Given the description of an element on the screen output the (x, y) to click on. 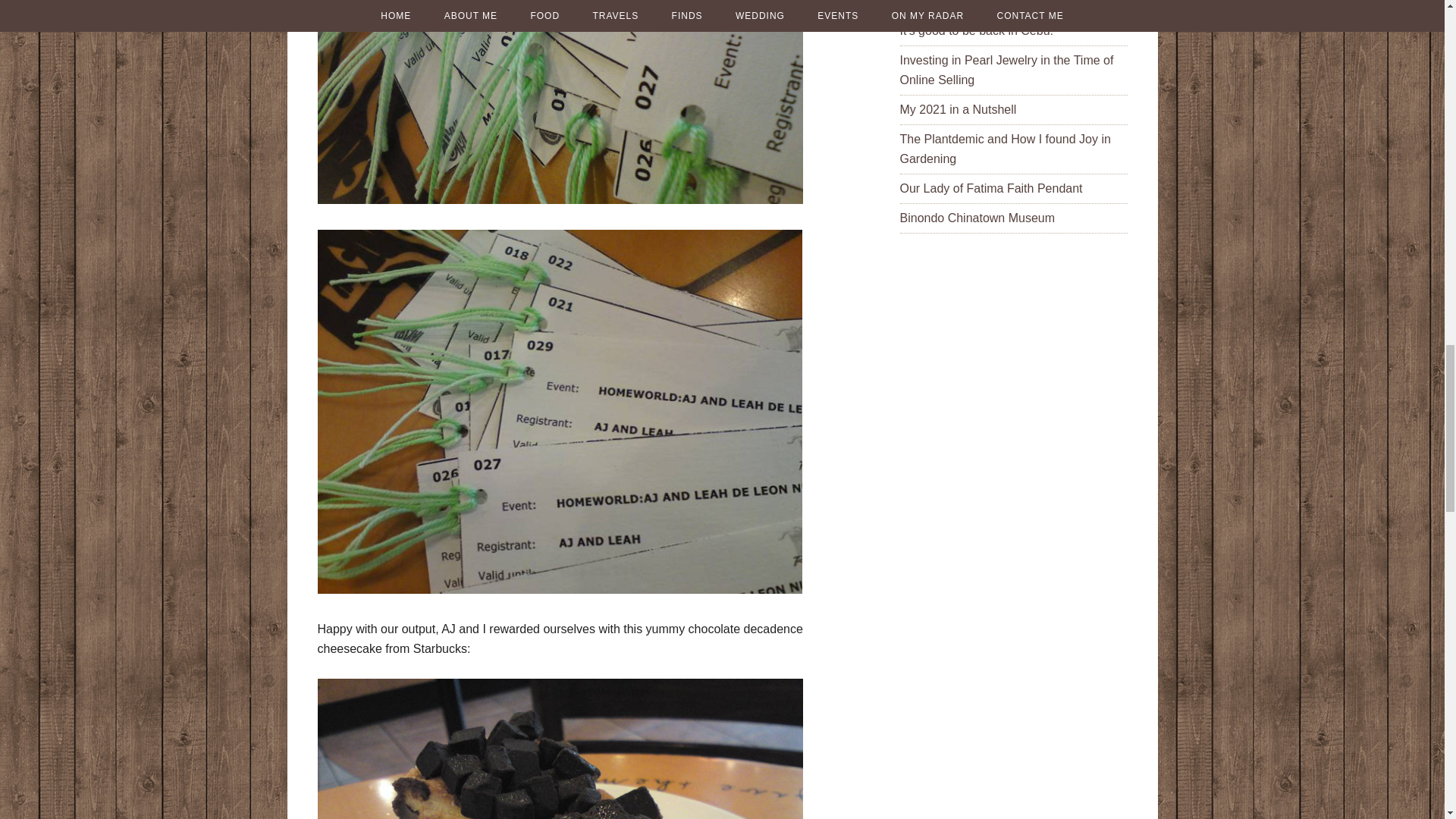
Investing in Pearl Jewelry in the Time of Online Selling (1006, 70)
A Short Visit to South Korea (974, 3)
